Given the description of an element on the screen output the (x, y) to click on. 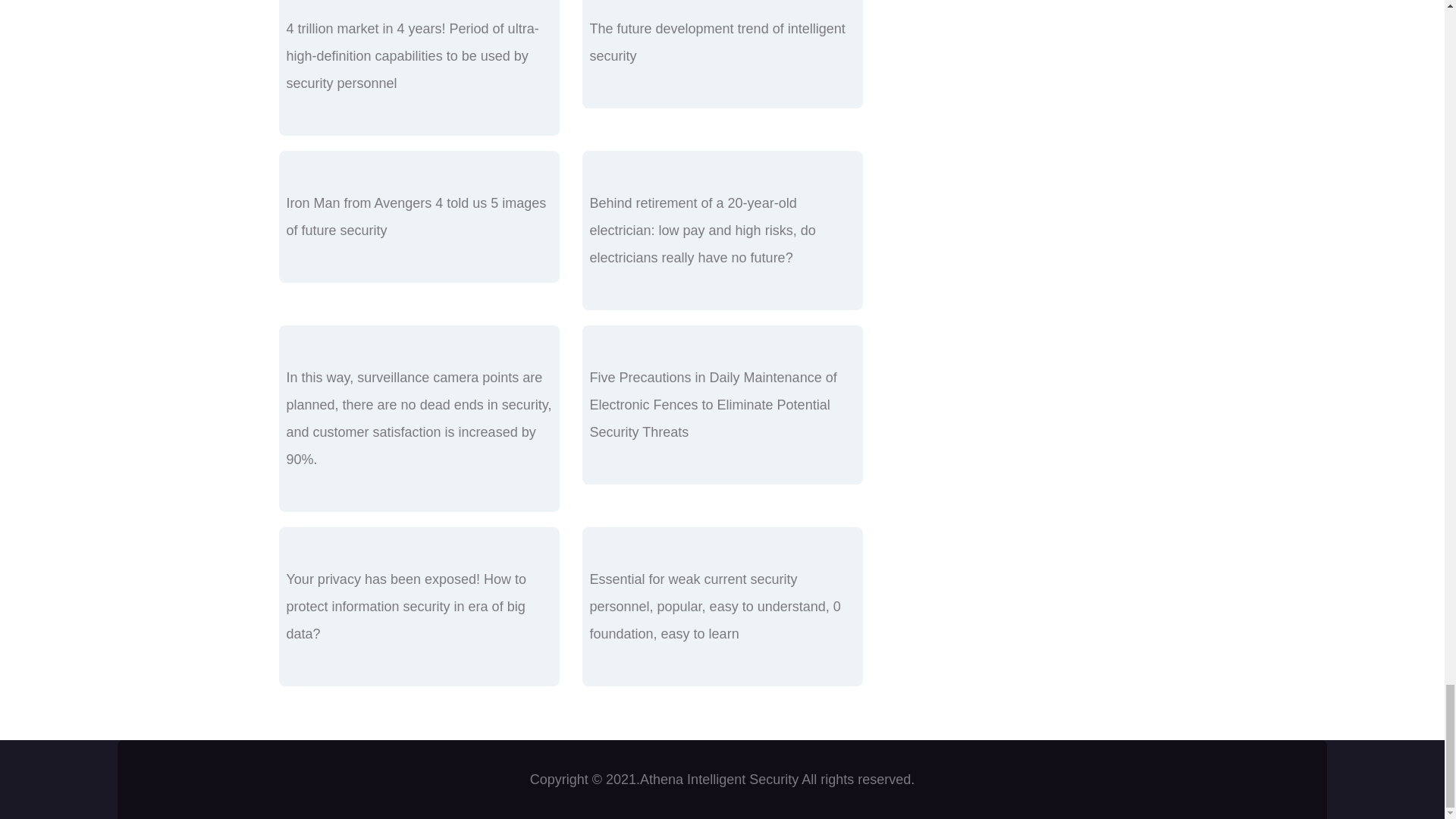
Iron Man from Avengers 4 told us 5 images of future security (416, 216)
The future development trend of intelligent security (717, 42)
